Given the description of an element on the screen output the (x, y) to click on. 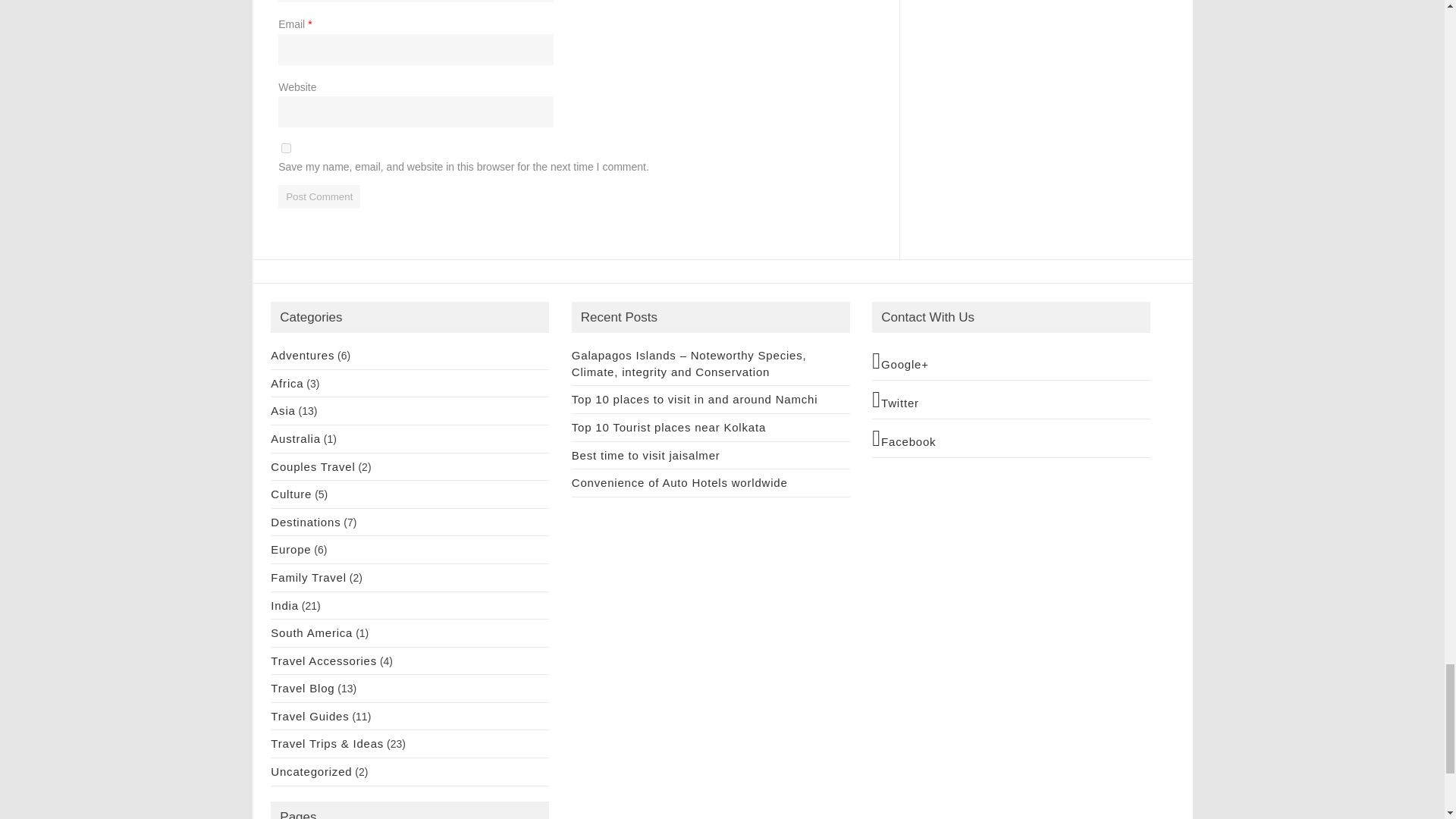
Visit Travel at Destination on Facebook (1011, 437)
yes (286, 148)
Visit Travel at Destination on Twitter (1011, 399)
Post Comment (318, 196)
